Given the description of an element on the screen output the (x, y) to click on. 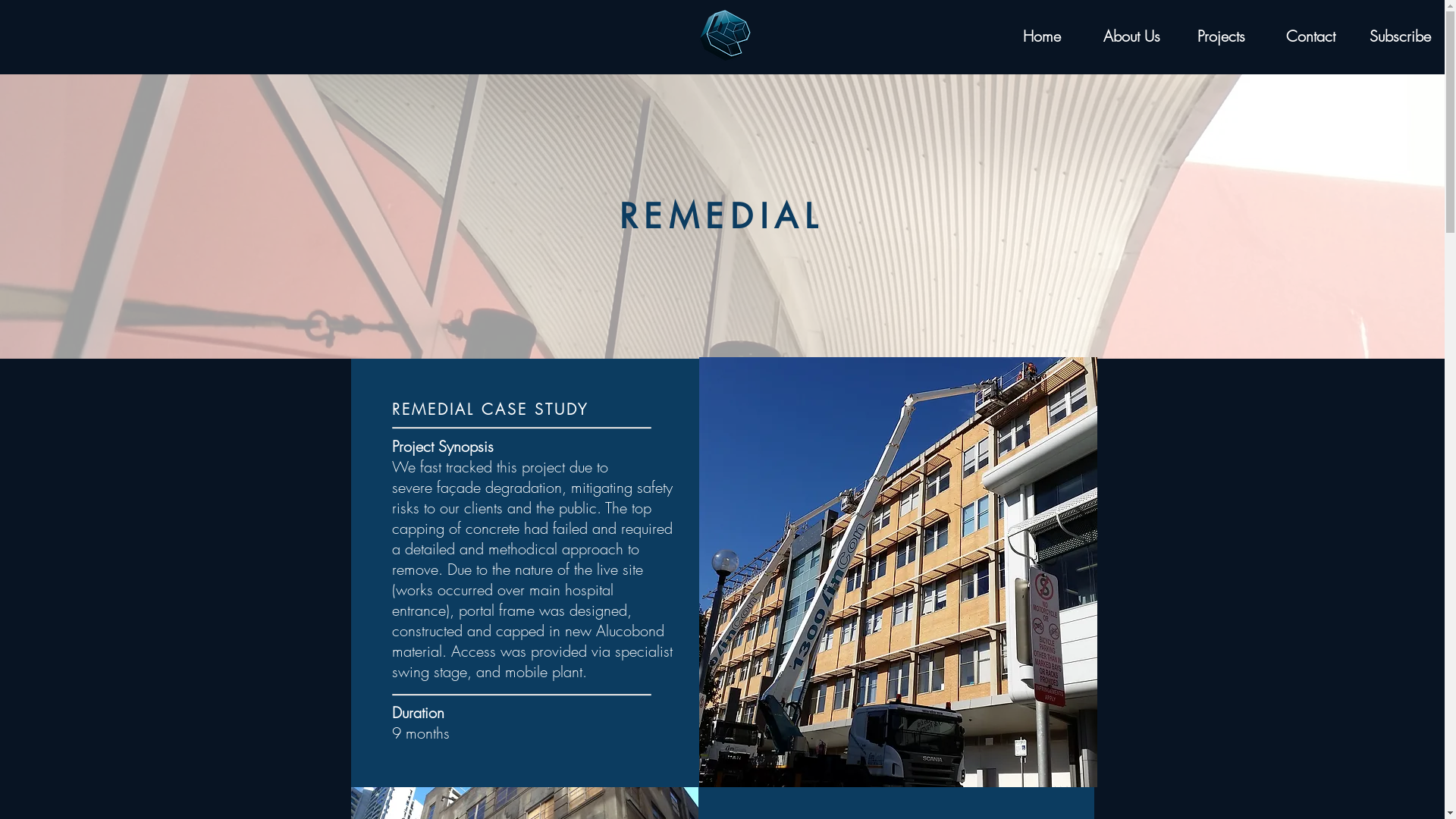
Contact Element type: text (1310, 36)
Subscribe Element type: text (1399, 36)
About Us Element type: text (1131, 36)
Home Element type: text (1041, 36)
